Given the description of an element on the screen output the (x, y) to click on. 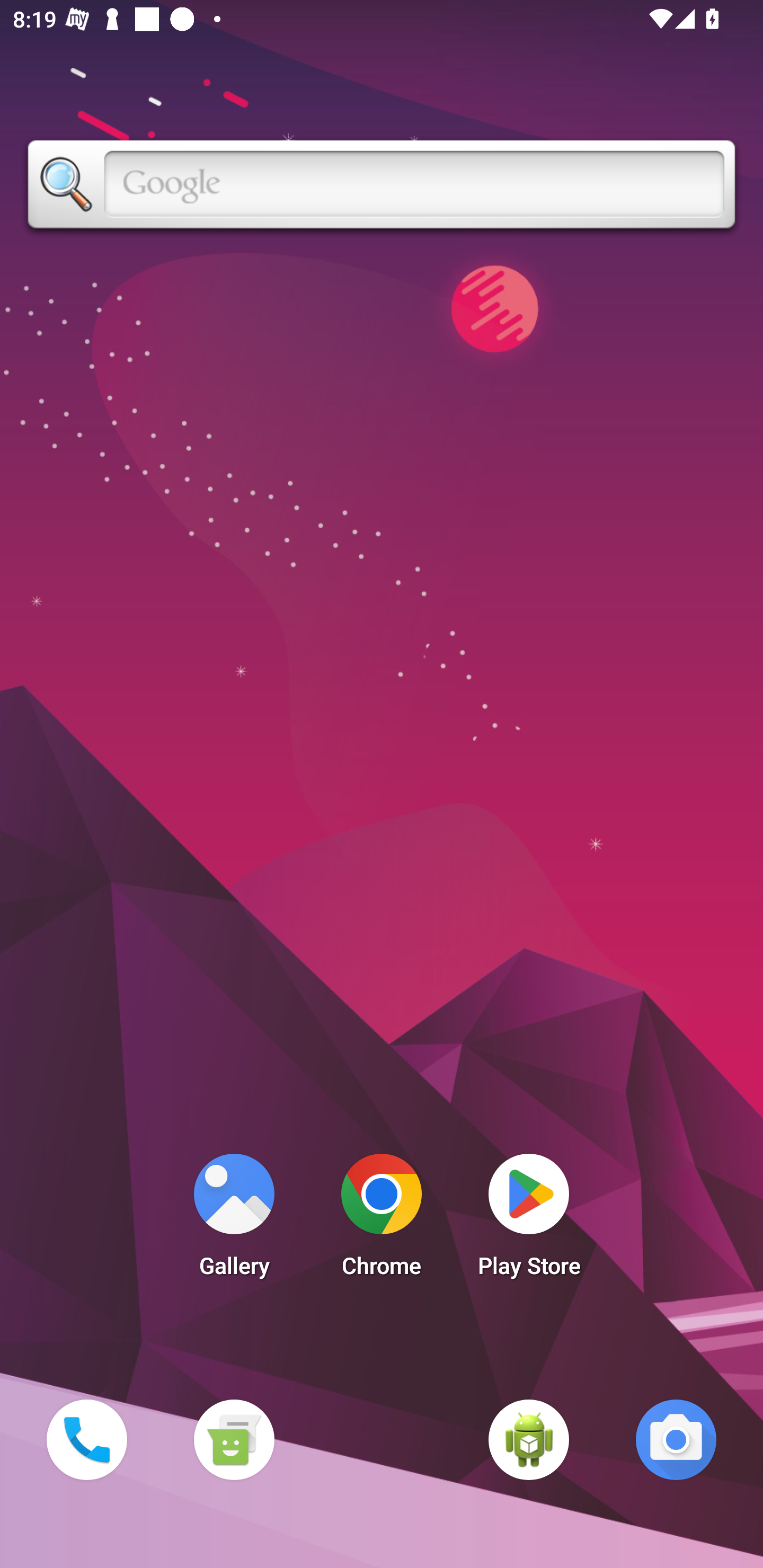
Gallery (233, 1220)
Chrome (381, 1220)
Play Store (528, 1220)
Phone (86, 1439)
Messaging (233, 1439)
WebView Browser Tester (528, 1439)
Camera (676, 1439)
